Given the description of an element on the screen output the (x, y) to click on. 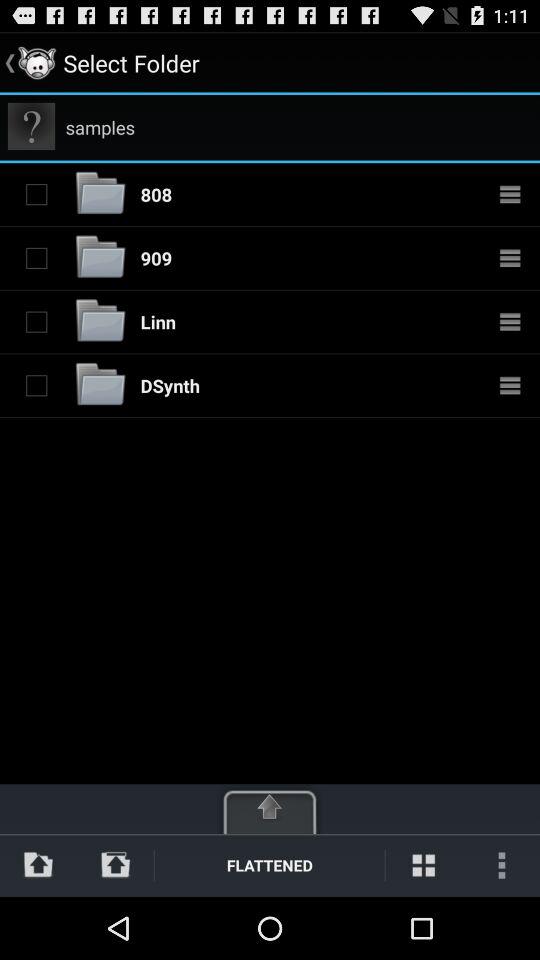
expand tab icon (269, 807)
